Given the description of an element on the screen output the (x, y) to click on. 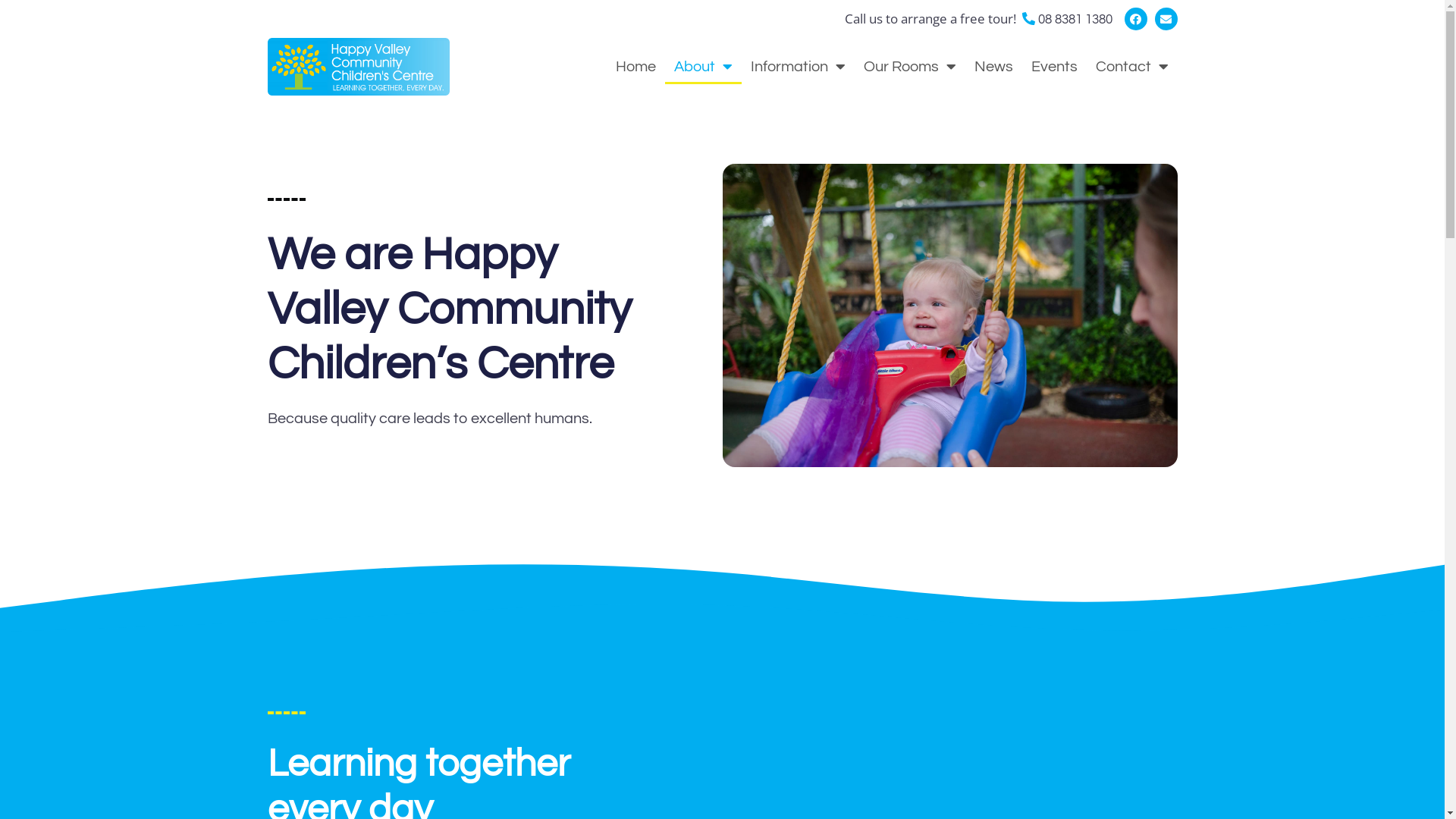
Events Element type: text (1054, 66)
Home Element type: text (635, 66)
Our Rooms Element type: text (908, 66)
  08 8381 1380 Element type: text (1065, 19)
Information Element type: text (797, 66)
About Element type: text (702, 66)
Facebook Element type: text (1134, 18)
News Element type: text (992, 66)
Envelope Element type: text (1165, 18)
Contact Element type: text (1130, 66)
